Given the description of an element on the screen output the (x, y) to click on. 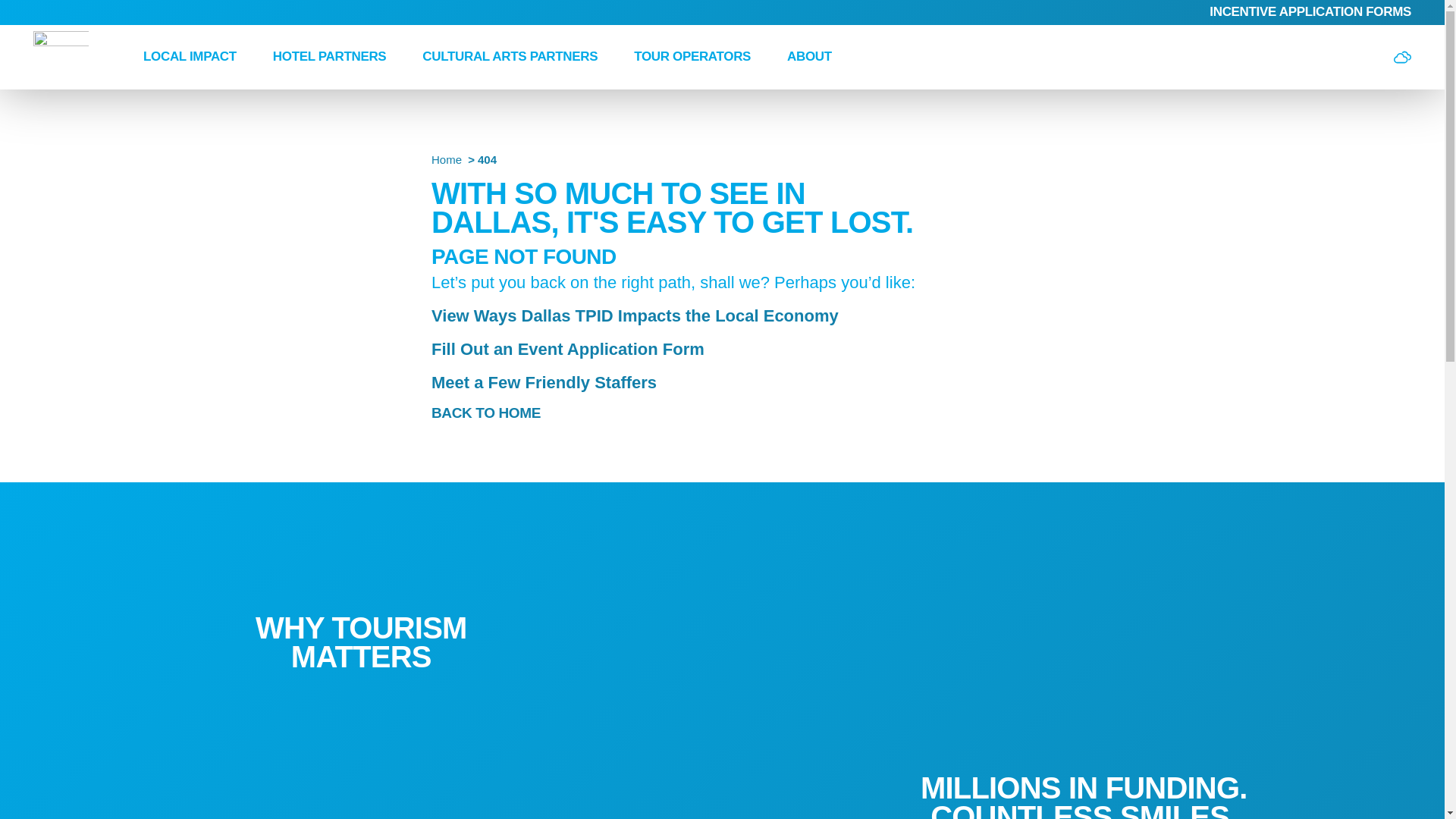
FORWARD-THINKING. FISCALLY STRONG. (361, 810)
CULTURAL ARTS PARTNERS (509, 56)
ABOUT (809, 56)
HOTEL PARTNERS (330, 56)
Home (446, 158)
Fill Out an Event Application Form (567, 348)
Meet a Few Friendly Staffers (543, 382)
TOUR OPERATORS (692, 56)
BACK TO HOME (492, 413)
LOCAL IMPACT (188, 56)
View Ways Dallas TPID Impacts the Local Economy (634, 315)
INCENTIVE APPLICATION FORMS (1309, 11)
Skip to content (17, 15)
